Given the description of an element on the screen output the (x, y) to click on. 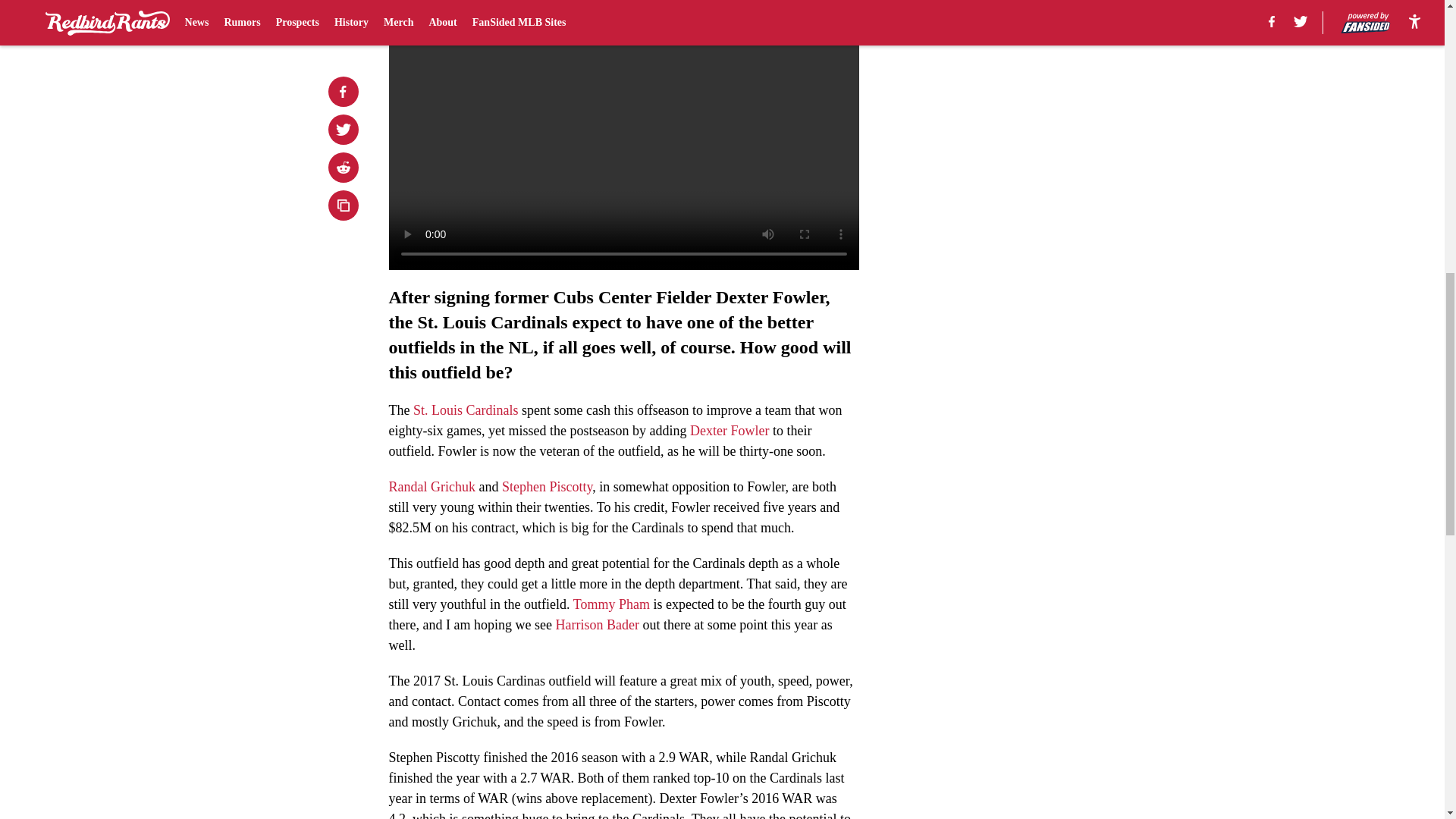
Dexter Fowler (729, 430)
St. Louis Cardinals (465, 409)
Harrison Bader (596, 624)
Stephen Piscotty (547, 486)
Randal Grichuk (431, 486)
Tommy Pham (611, 604)
